Given the description of an element on the screen output the (x, y) to click on. 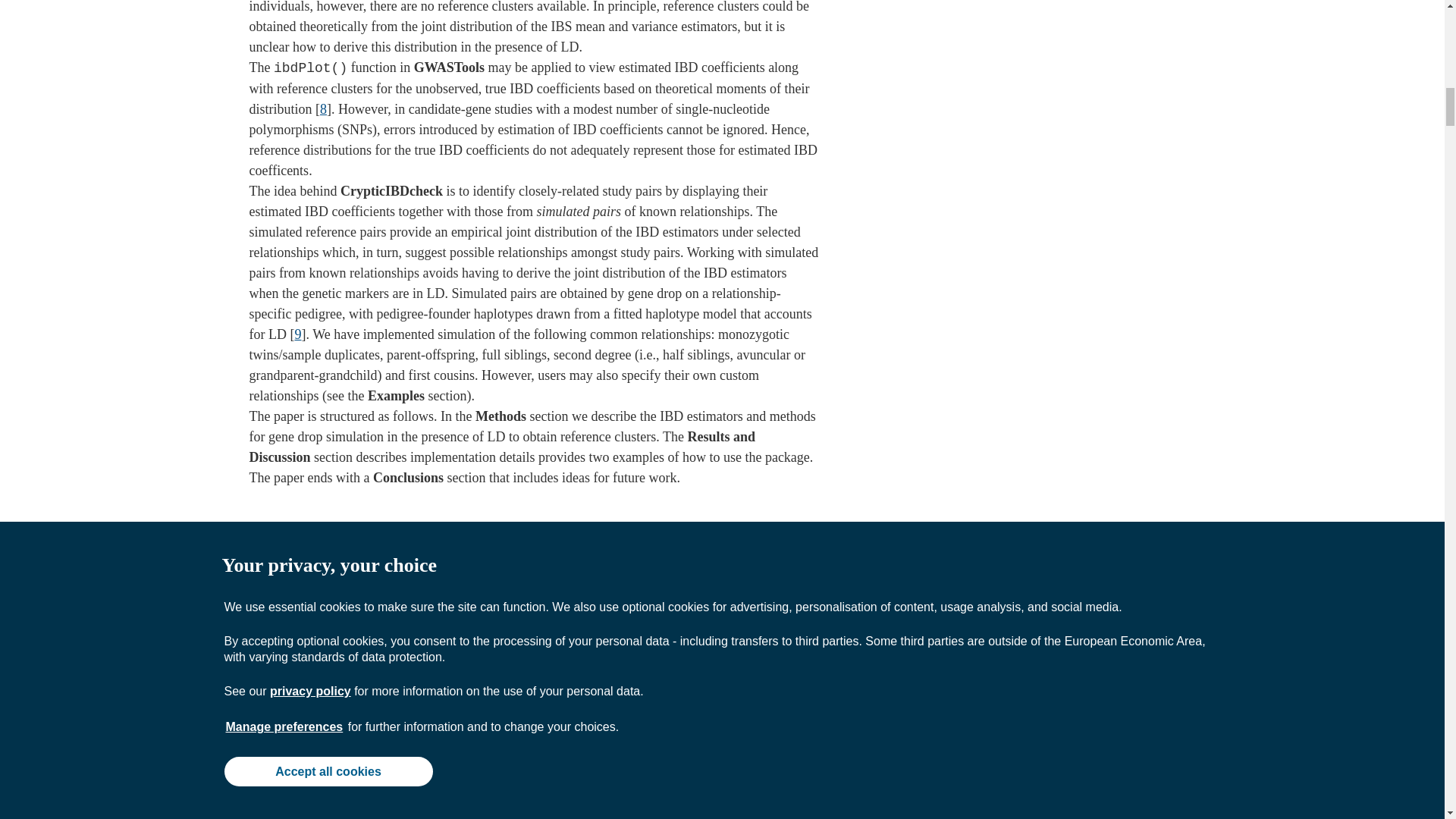
10 (745, 592)
12 (764, 592)
